Given the description of an element on the screen output the (x, y) to click on. 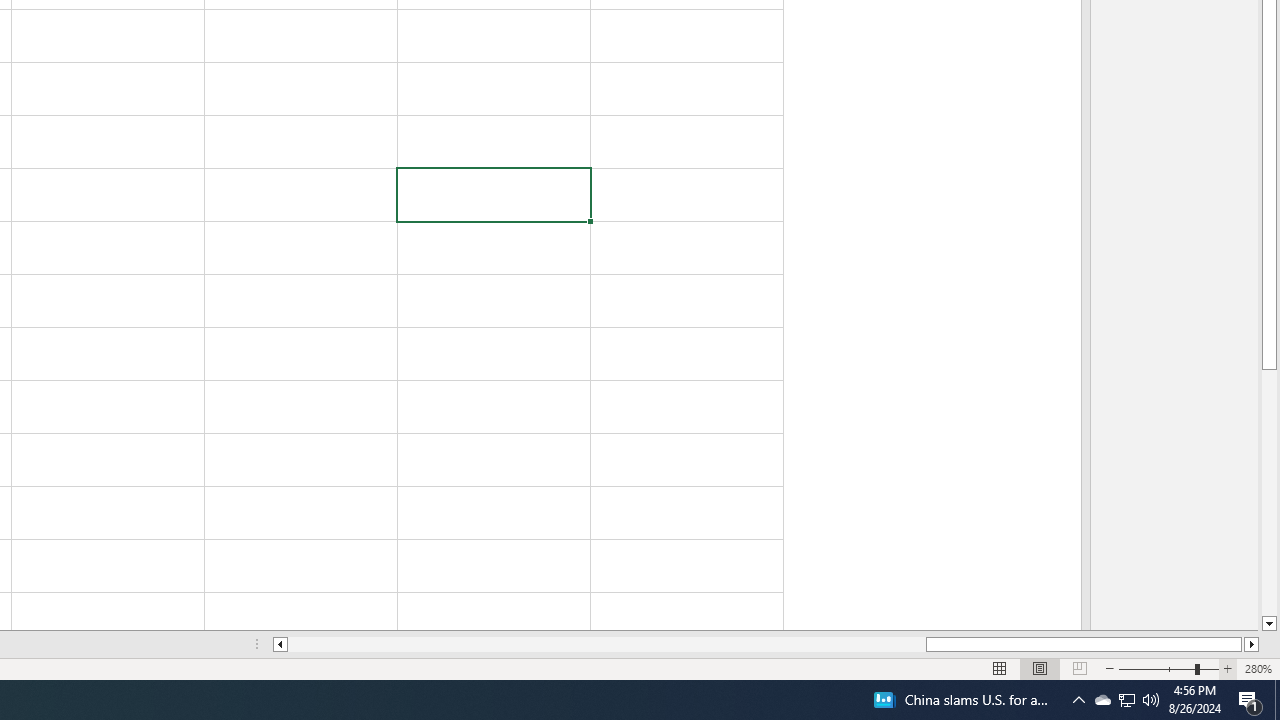
Page left (606, 644)
